Given the description of an element on the screen output the (x, y) to click on. 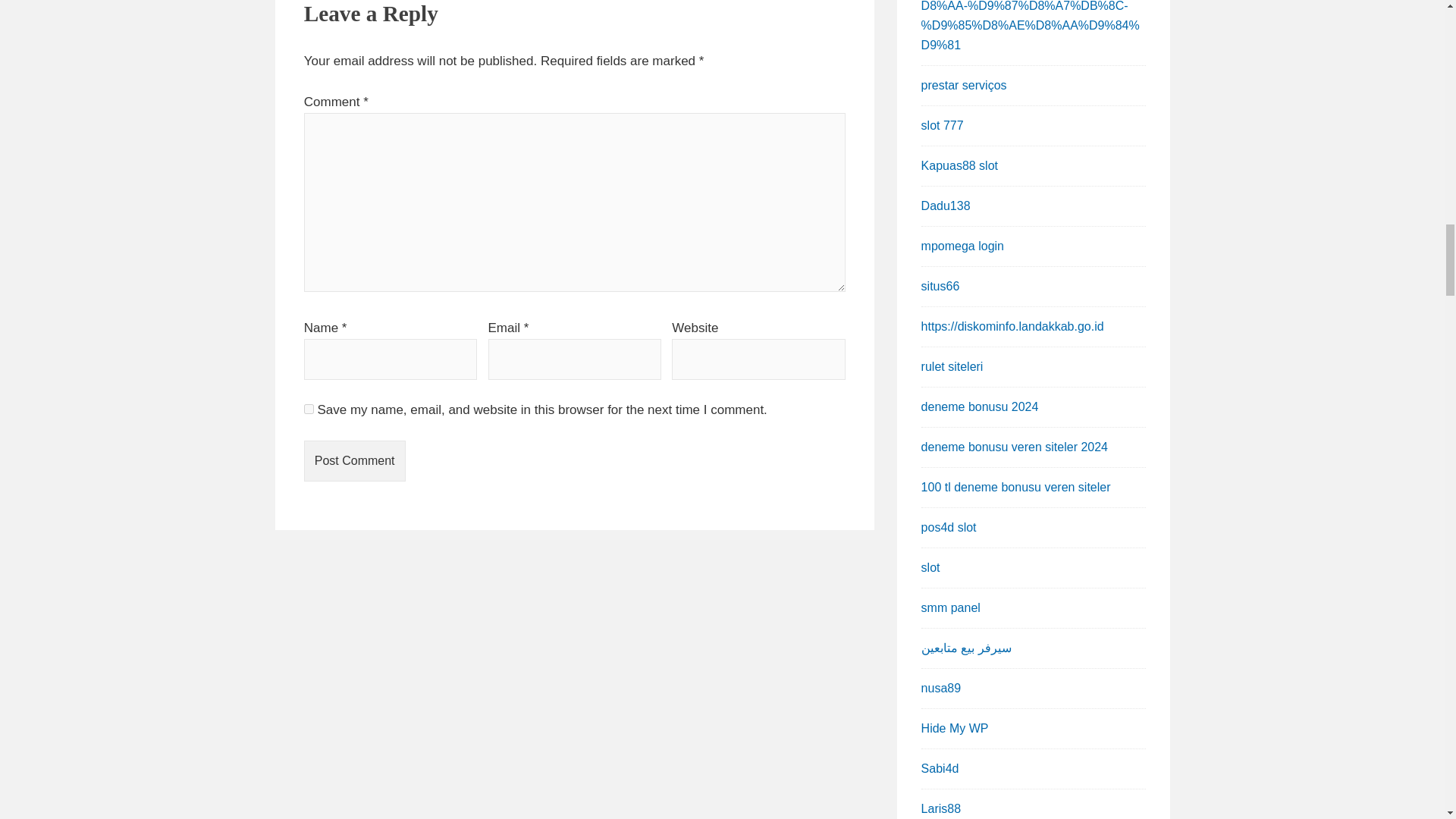
Post Comment (355, 460)
yes (309, 409)
Post Comment (355, 460)
